Given the description of an element on the screen output the (x, y) to click on. 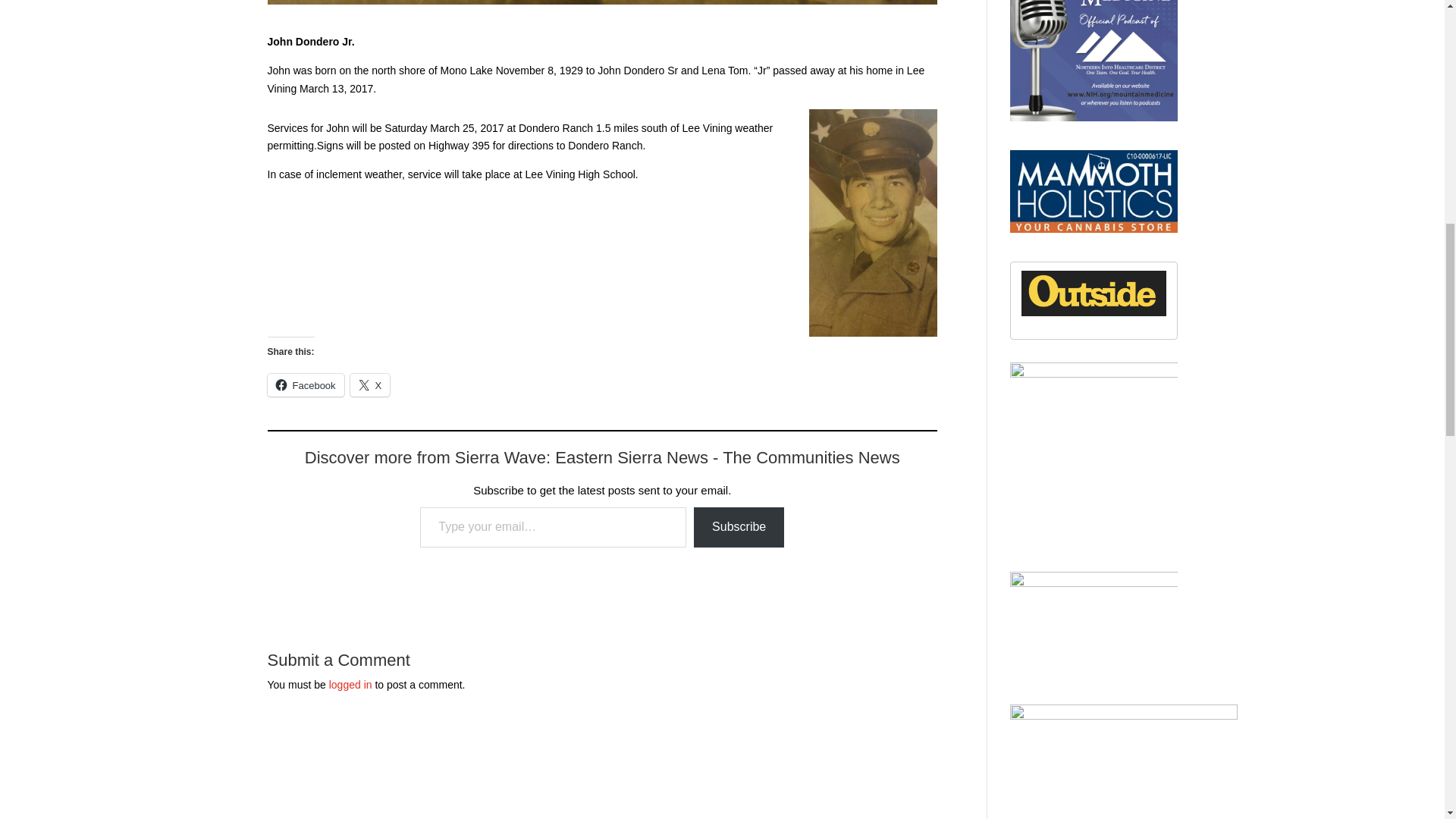
Facebook (304, 384)
logged in (350, 684)
Subscribe (739, 526)
Click to share on X (370, 384)
Click to share on Facebook (304, 384)
X (370, 384)
Outside TV (1094, 313)
Please fill in this field. (552, 526)
